Given the description of an element on the screen output the (x, y) to click on. 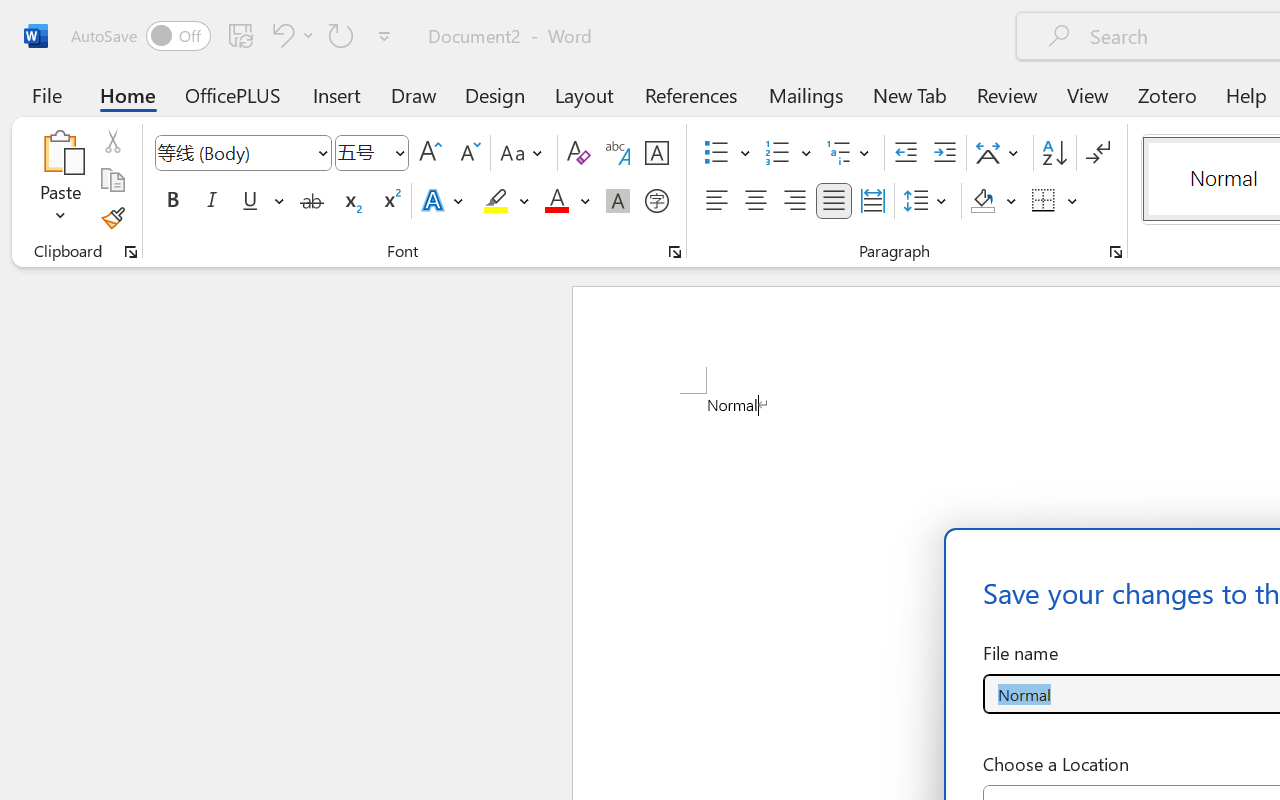
Format Painter (112, 218)
Underline (250, 201)
Align Left (716, 201)
Text Highlight Color (506, 201)
Show/Hide Editing Marks (1098, 153)
Font Color Red (556, 201)
Borders (1055, 201)
Increase Indent (944, 153)
Decrease Indent (906, 153)
More Options (1073, 201)
Bullets (727, 153)
Change Case (524, 153)
Font... (675, 252)
Quick Access Toolbar (233, 36)
Paragraph... (1115, 252)
